Given the description of an element on the screen output the (x, y) to click on. 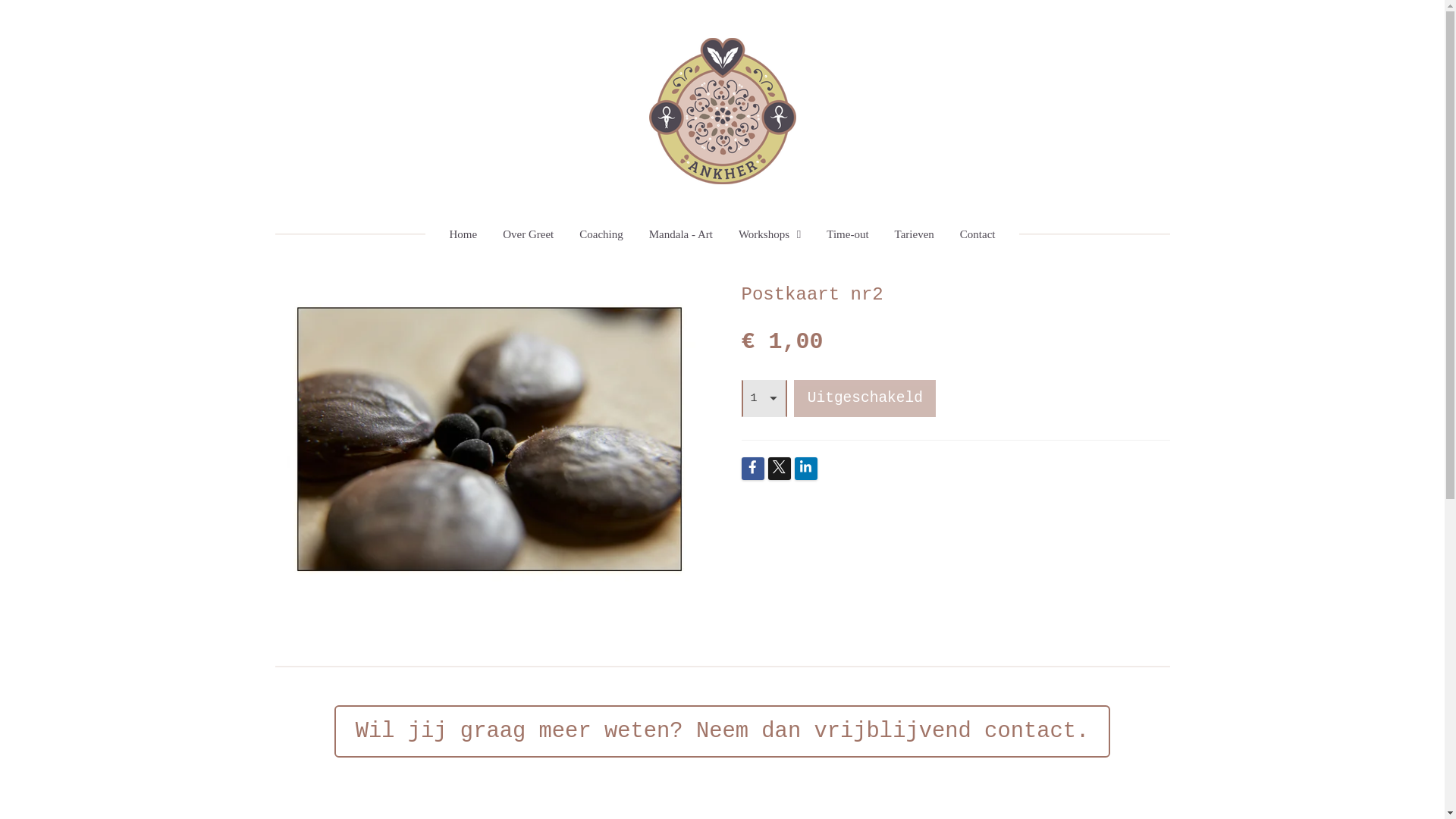
Workshops Element type: text (769, 234)
Home Element type: text (463, 234)
Coaching Element type: text (601, 234)
Over Greet Element type: text (527, 234)
Wil jij graag meer weten? Neem dan vrijblijvend contact. Element type: text (722, 731)
Mandala - Art Element type: text (680, 234)
Time-out Element type: text (847, 234)
ankher Element type: hover (722, 110)
Uitgeschakeld Element type: text (864, 398)
Tarieven Element type: text (914, 234)
Contact Element type: text (977, 234)
